Given the description of an element on the screen output the (x, y) to click on. 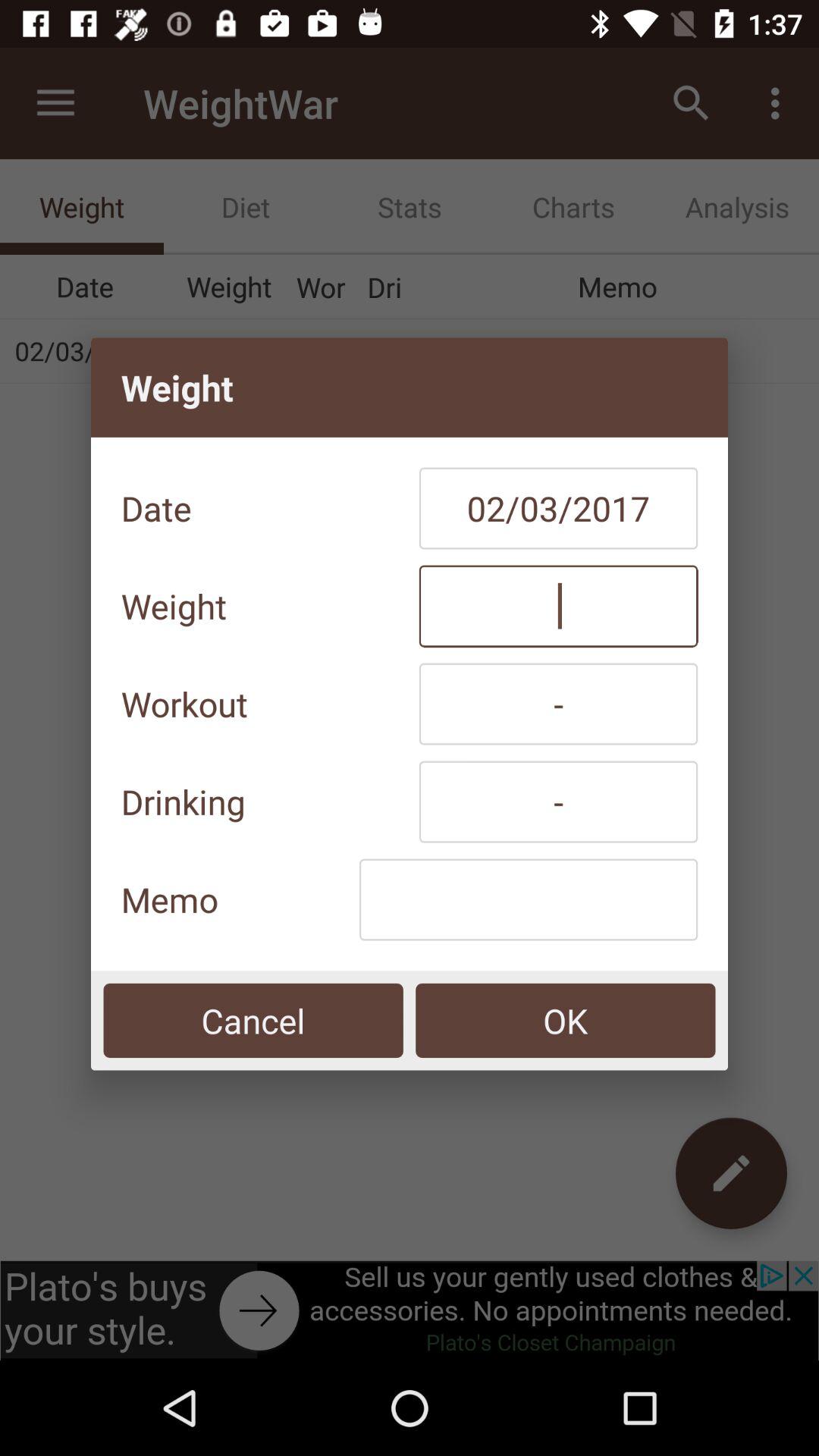
swipe to ok (565, 1020)
